Given the description of an element on the screen output the (x, y) to click on. 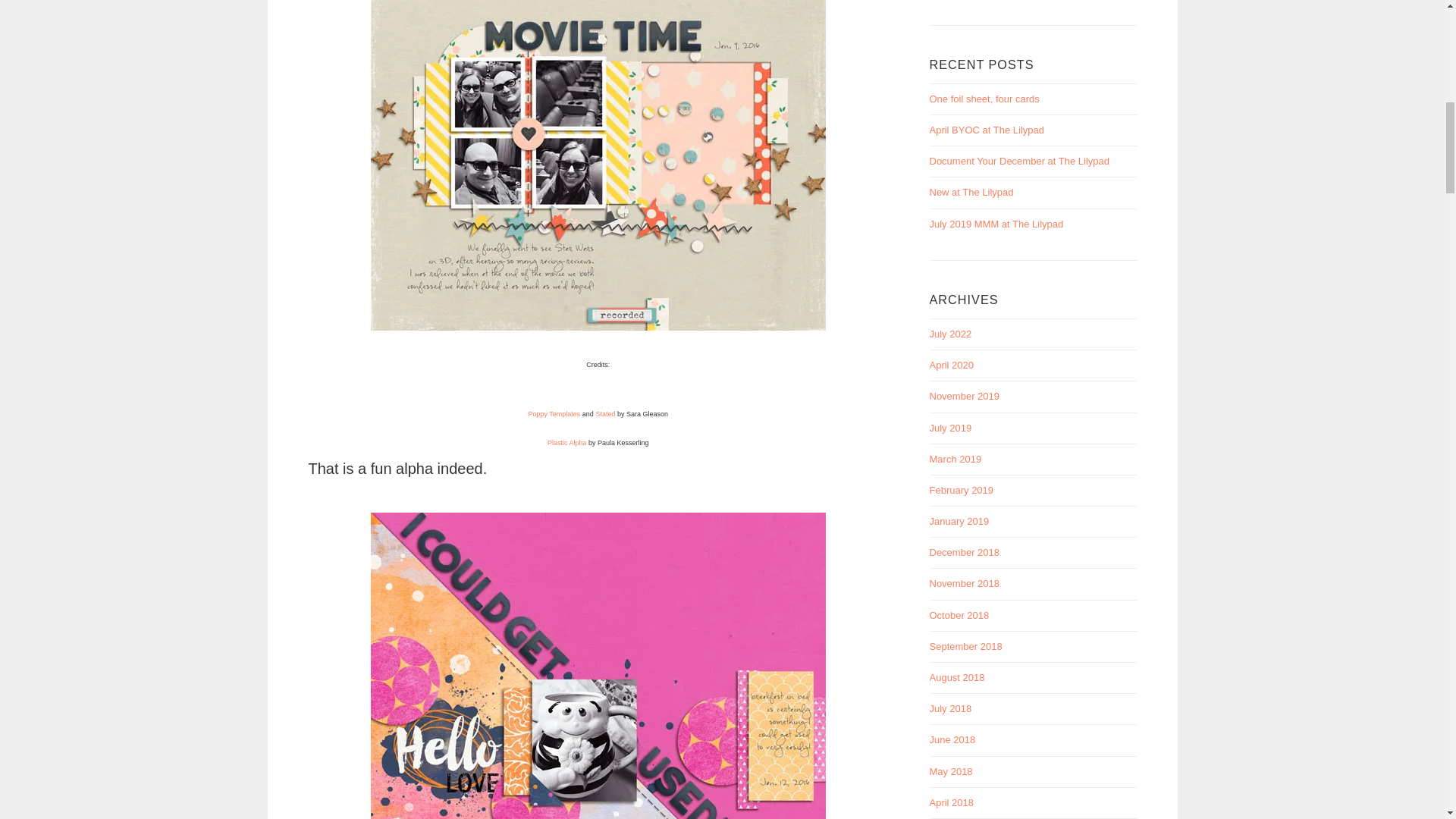
Stated (604, 413)
Poppy Templates (553, 413)
Plastic Alpha (566, 442)
